Given the description of an element on the screen output the (x, y) to click on. 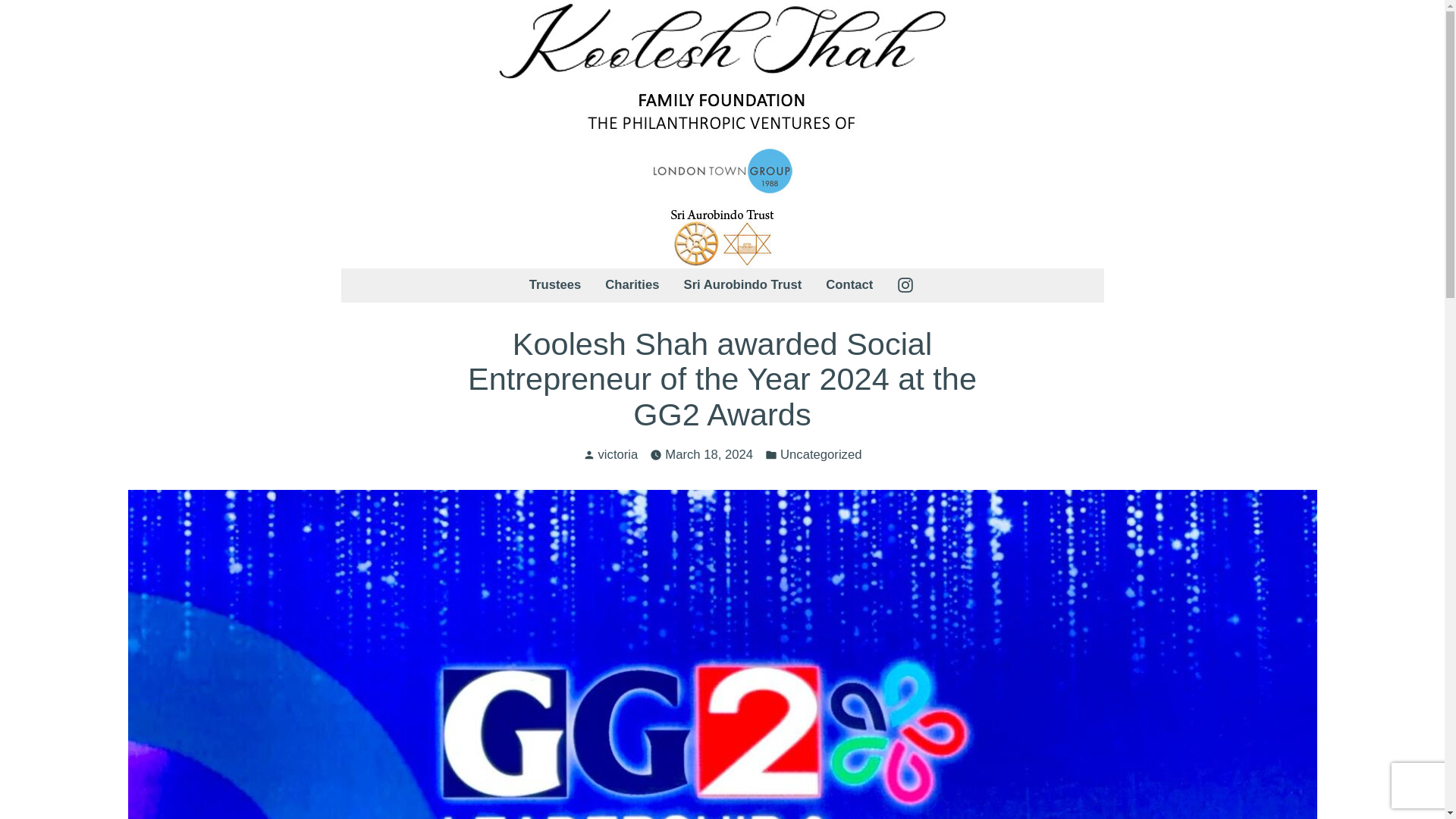
victoria (618, 454)
Trustees (561, 285)
Charities (631, 285)
Uncategorized (820, 455)
March 18, 2024 (708, 455)
Sri Aurobindo Trust (742, 285)
Contact (842, 285)
